Given the description of an element on the screen output the (x, y) to click on. 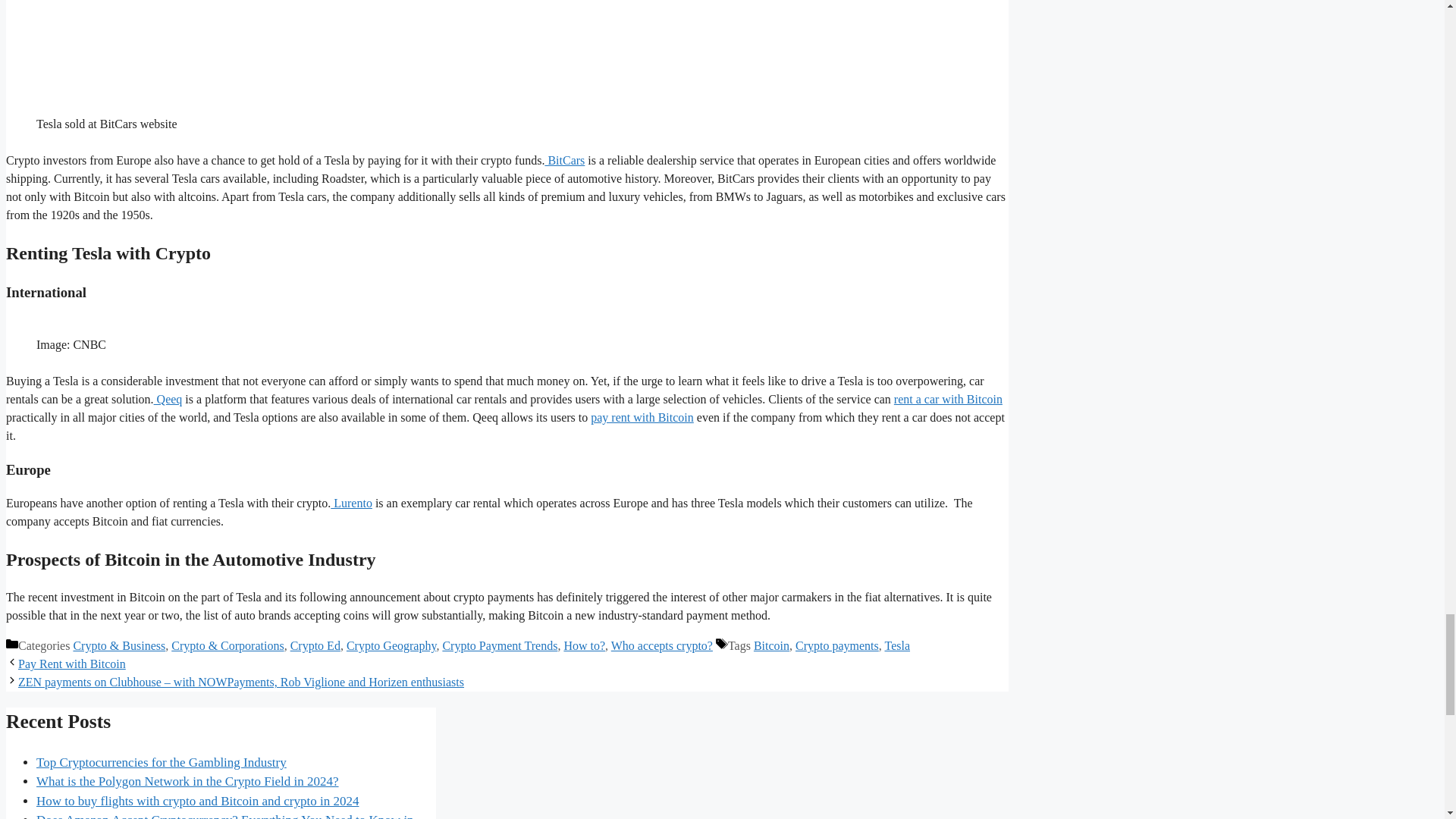
Qeeq (168, 399)
BitCars (564, 160)
Lurento (351, 502)
pay rent with Bitcoin (642, 417)
rent a car with Bitcoin (948, 399)
